Given the description of an element on the screen output the (x, y) to click on. 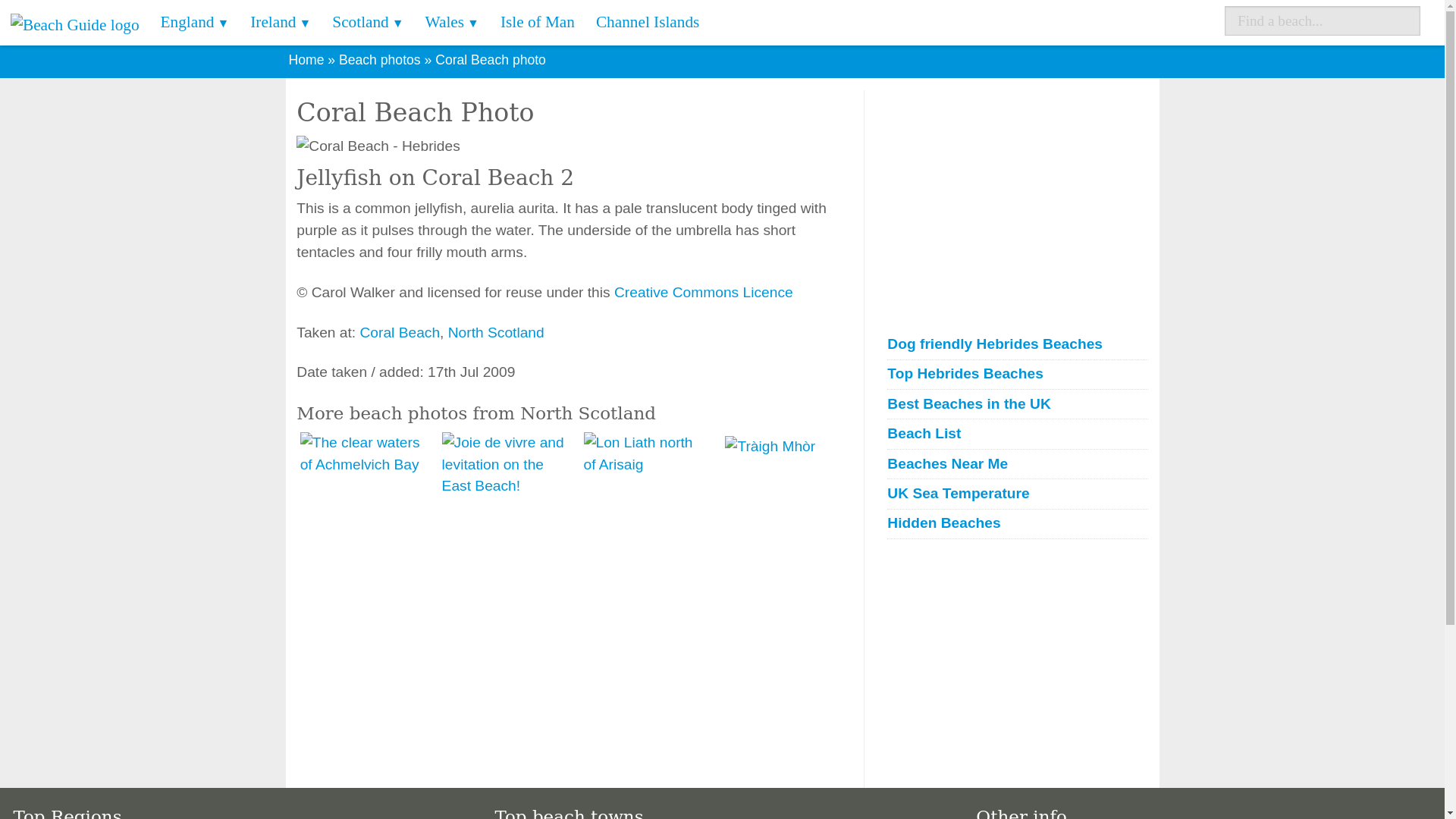
Isle of Man (537, 22)
Coral Beach (399, 332)
Channel Islands (647, 22)
Creative Commons Licence (703, 292)
North Scotland (496, 332)
Beach List (1016, 434)
Top Hebrides Beaches (1016, 373)
Home (305, 59)
Beach photos (379, 59)
Beaches Near Me (1016, 464)
